Given the description of an element on the screen output the (x, y) to click on. 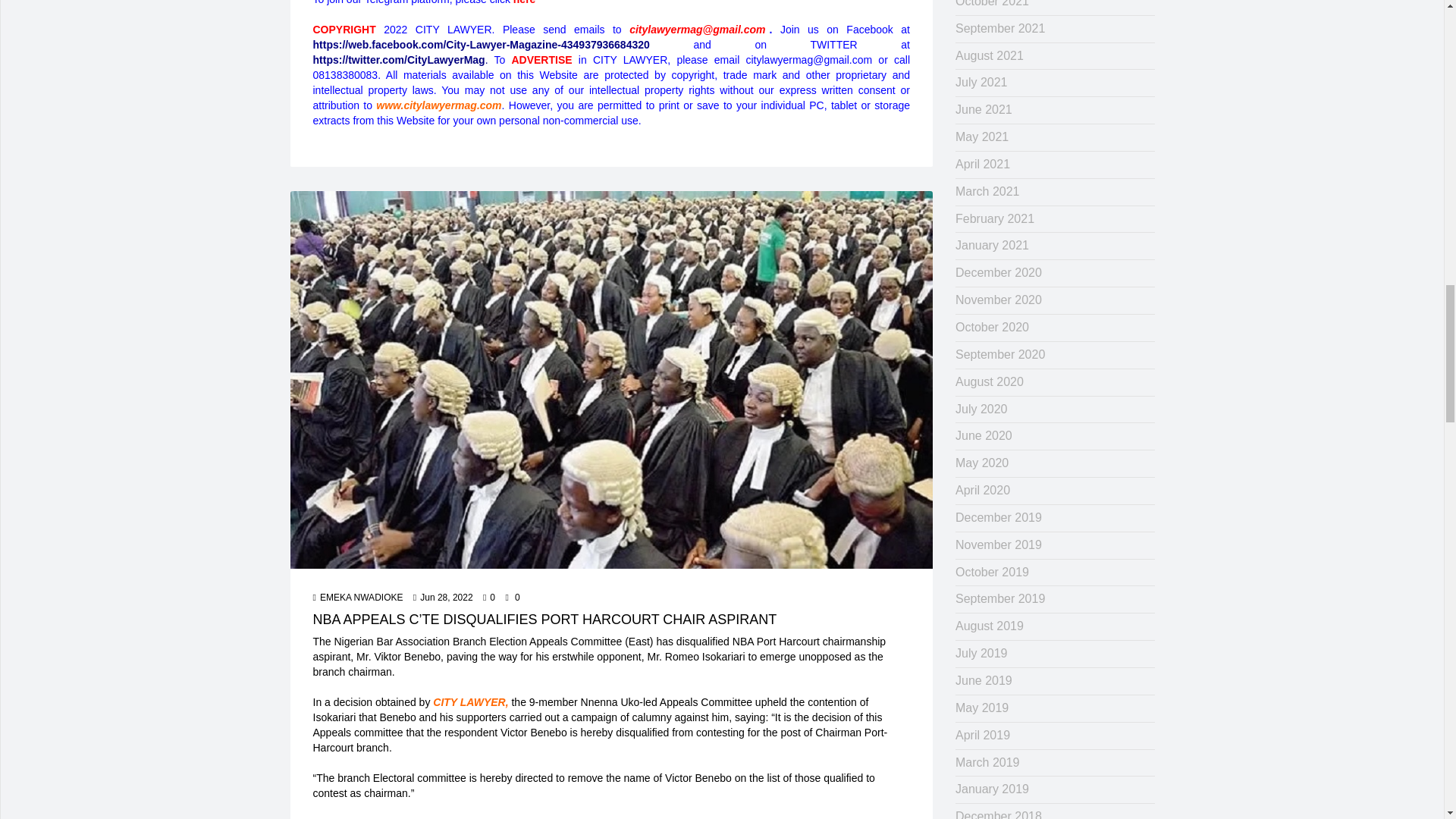
here (524, 2)
Like (489, 597)
www.citylawyermag.com (437, 105)
EMEKA NWADIOKE (358, 597)
0 (489, 597)
